Given the description of an element on the screen output the (x, y) to click on. 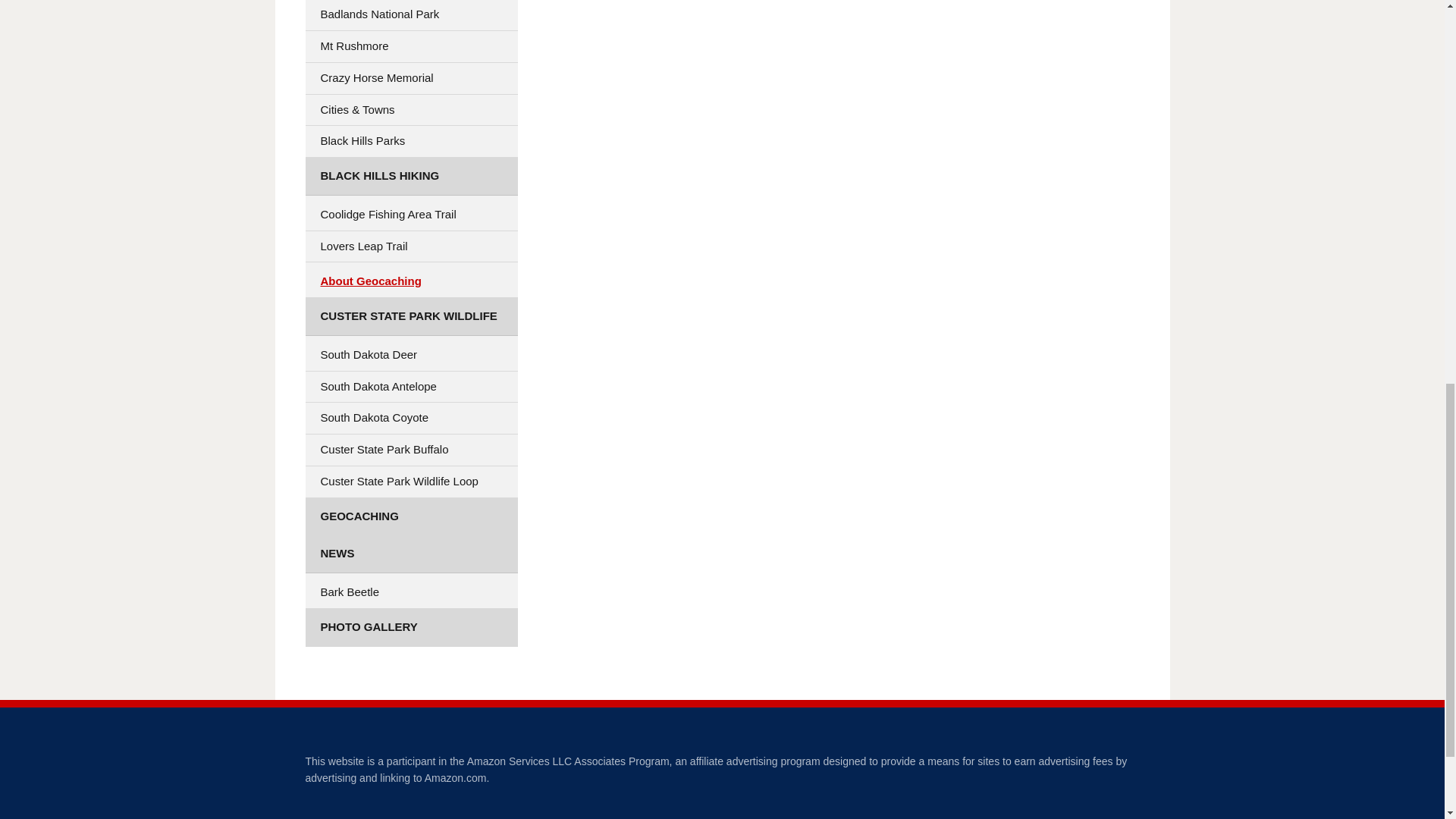
GEOCACHING (410, 516)
About Geocaching (410, 281)
Badlands National Park (410, 15)
CUSTER STATE PARK WILDLIFE (410, 316)
South Dakota Antelope (410, 386)
Custer State Park Wildlife Loop (410, 481)
Custer State Park Buffalo (410, 450)
Bark Beetle (410, 592)
NEWS (410, 554)
South Dakota Deer (410, 355)
Black Hills Parks (410, 141)
BLACK HILLS HIKING (410, 176)
PHOTO GALLERY (410, 627)
Lovers Leap Trail (410, 246)
Coolidge Fishing Area Trail (410, 214)
